Given the description of an element on the screen output the (x, y) to click on. 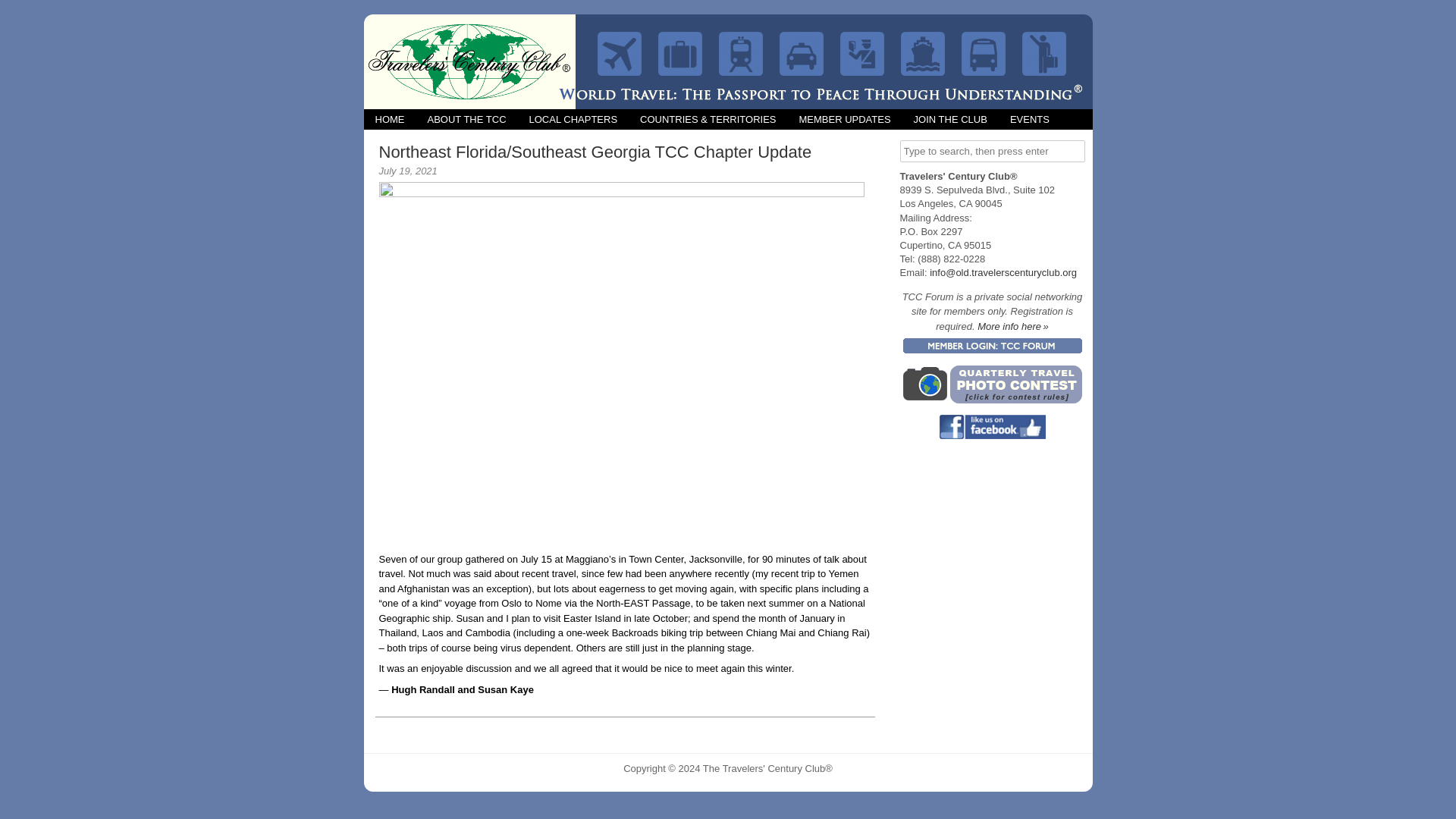
Type to search, then press enter (991, 151)
LOCAL CHAPTERS (573, 118)
ABOUT THE TCC (465, 118)
HOME (390, 118)
